Given the description of an element on the screen output the (x, y) to click on. 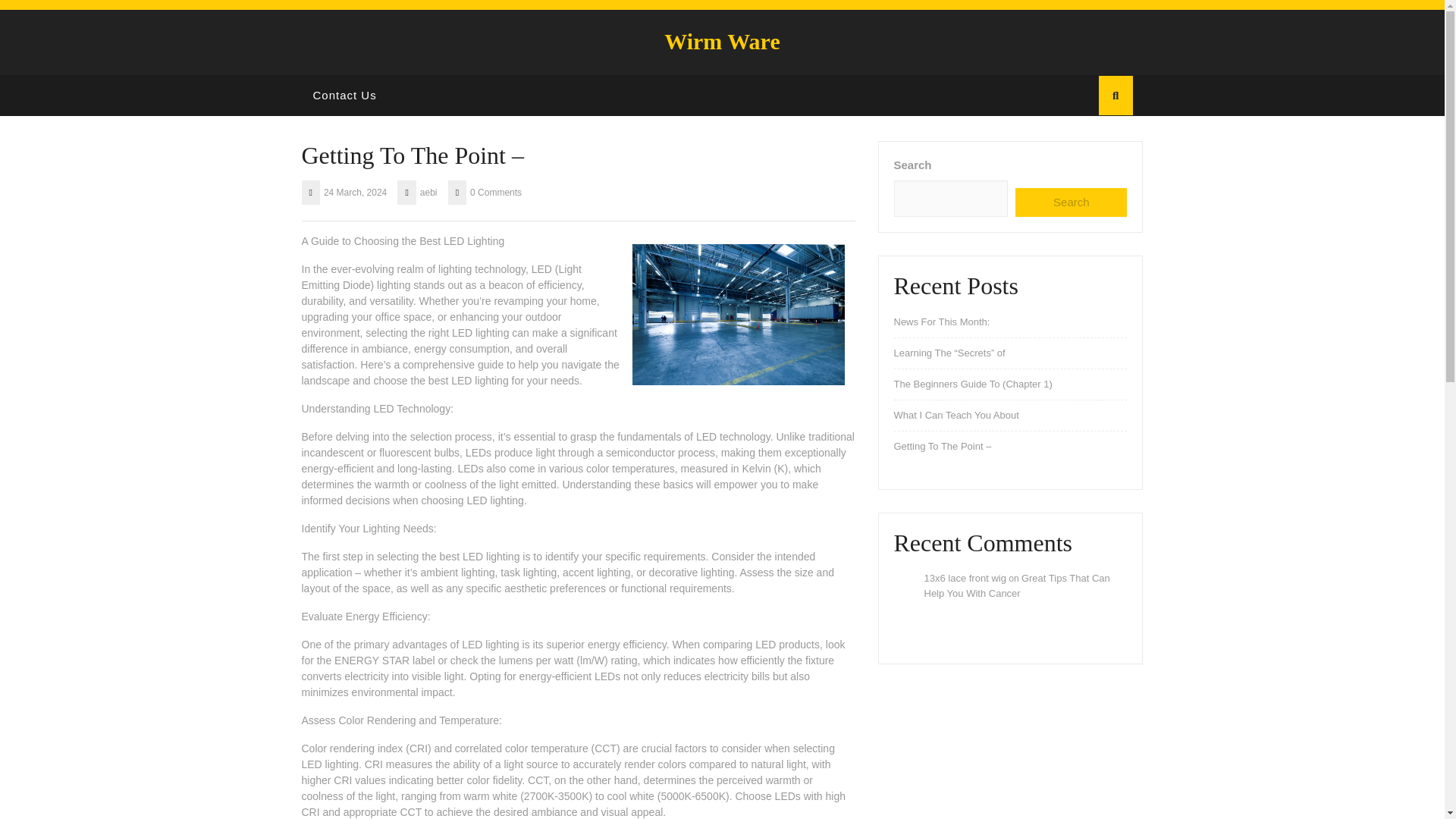
Great Tips That Can Help You With Cancer (1016, 585)
Contact Us (344, 95)
Wirm Ware (721, 41)
Search (1070, 202)
News For This Month: (941, 321)
What I Can Teach You About (955, 414)
13x6 lace front wig (964, 577)
